Given the description of an element on the screen output the (x, y) to click on. 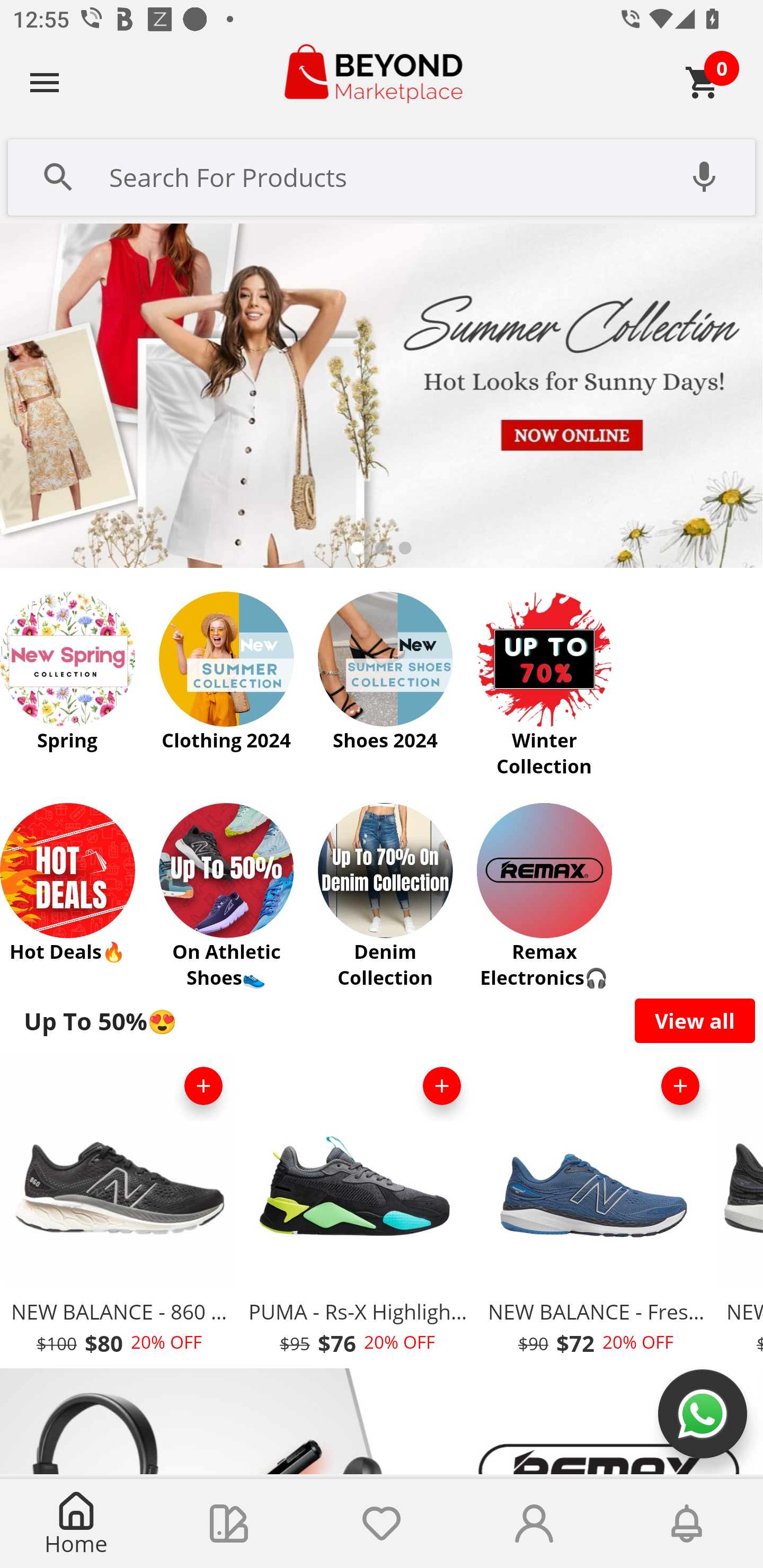
Navigate up (44, 82)
Search For Products (381, 175)
View all (694, 1020)
NEW BALANCE - 860 Running Shoes $100 $80 20% OFF (119, 1209)
Collections (228, 1523)
Wishlist (381, 1523)
My Account (533, 1523)
Notifications (686, 1523)
